Given the description of an element on the screen output the (x, y) to click on. 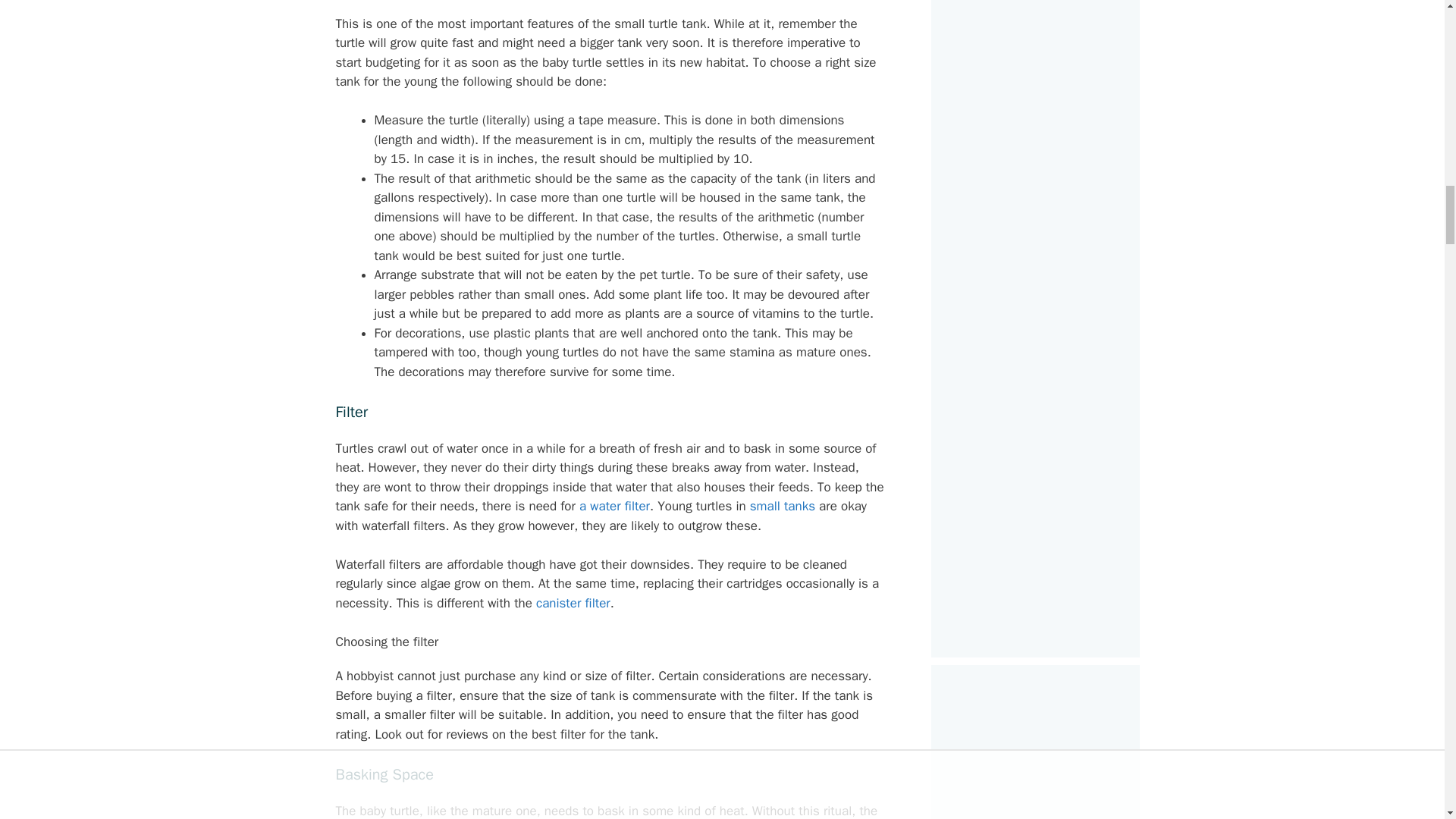
canister filter (572, 602)
small tanks (782, 505)
a water filter (614, 505)
